Given the description of an element on the screen output the (x, y) to click on. 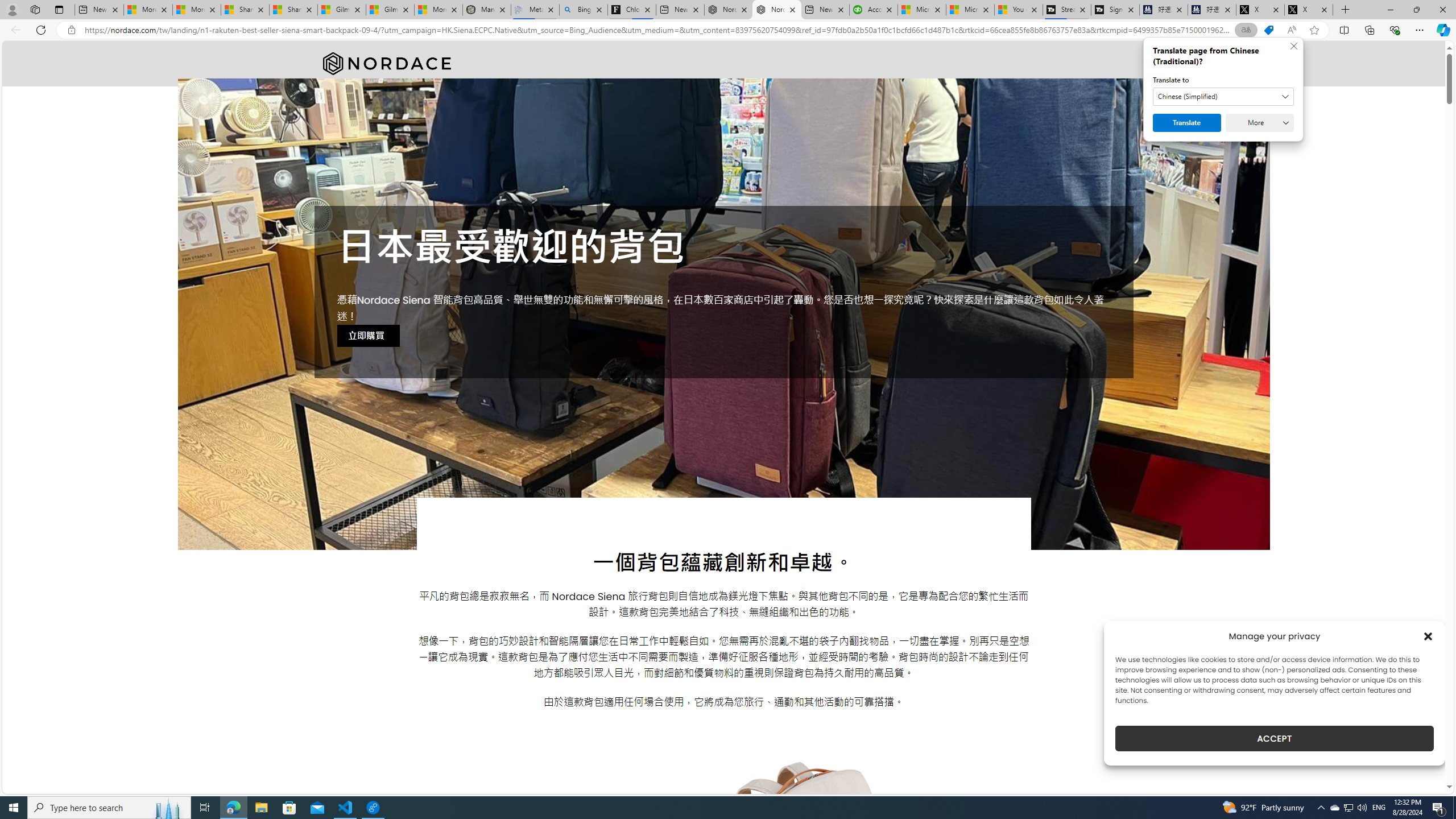
Chloe Sorvino (631, 9)
Translate (1187, 122)
Gilma and Hector both pose tropical trouble for Hawaii (390, 9)
Accounting Software for Accountants, CPAs and Bookkeepers (873, 9)
Streaming Coverage | T3 (1067, 9)
